Given the description of an element on the screen output the (x, y) to click on. 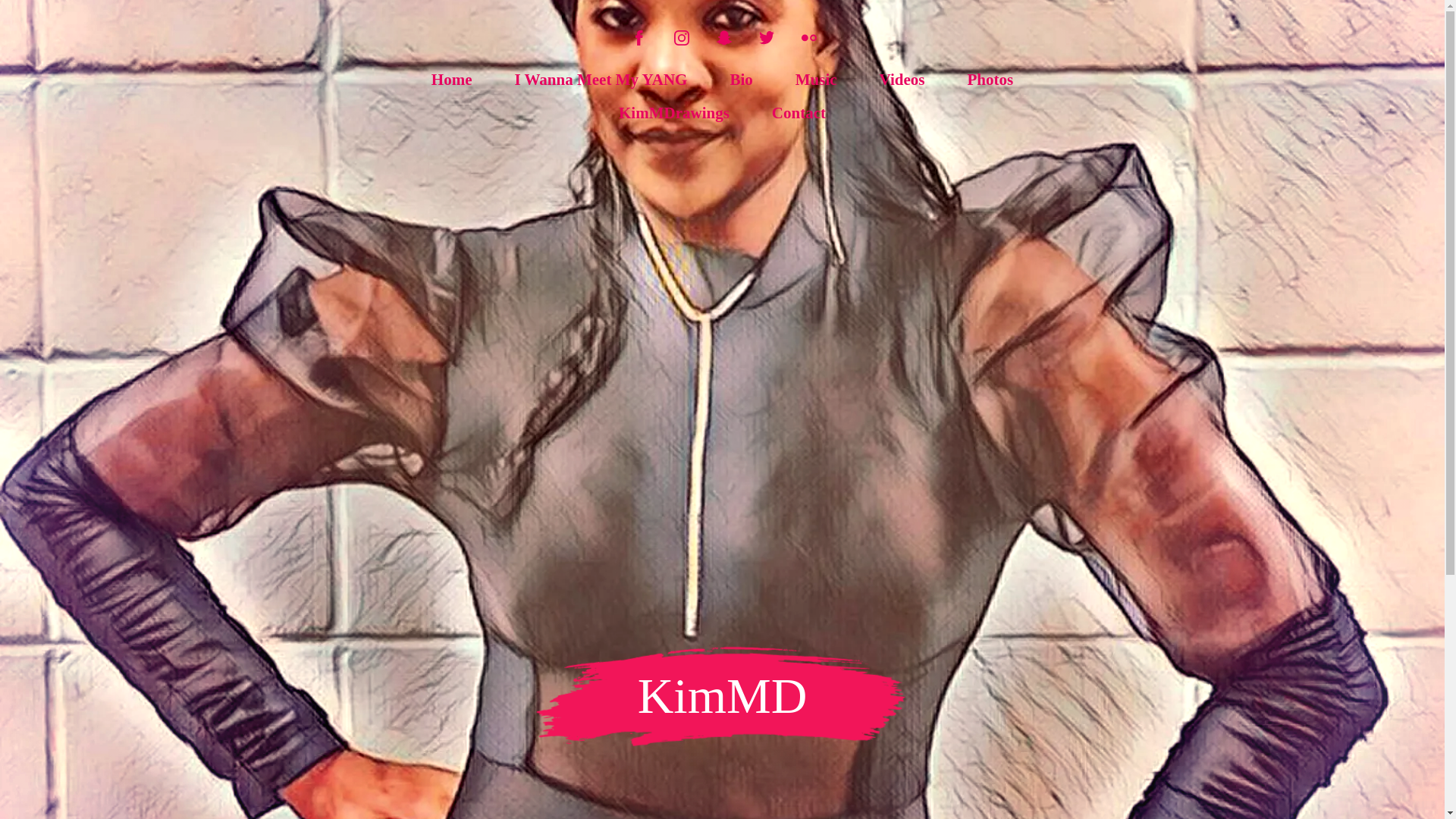
I Wanna Meet My YANG (600, 80)
KimMD (722, 706)
Photos (989, 80)
Videos (901, 80)
Home (451, 80)
Music (815, 80)
Contact (798, 113)
KimMDrawings (673, 113)
